Given the description of an element on the screen output the (x, y) to click on. 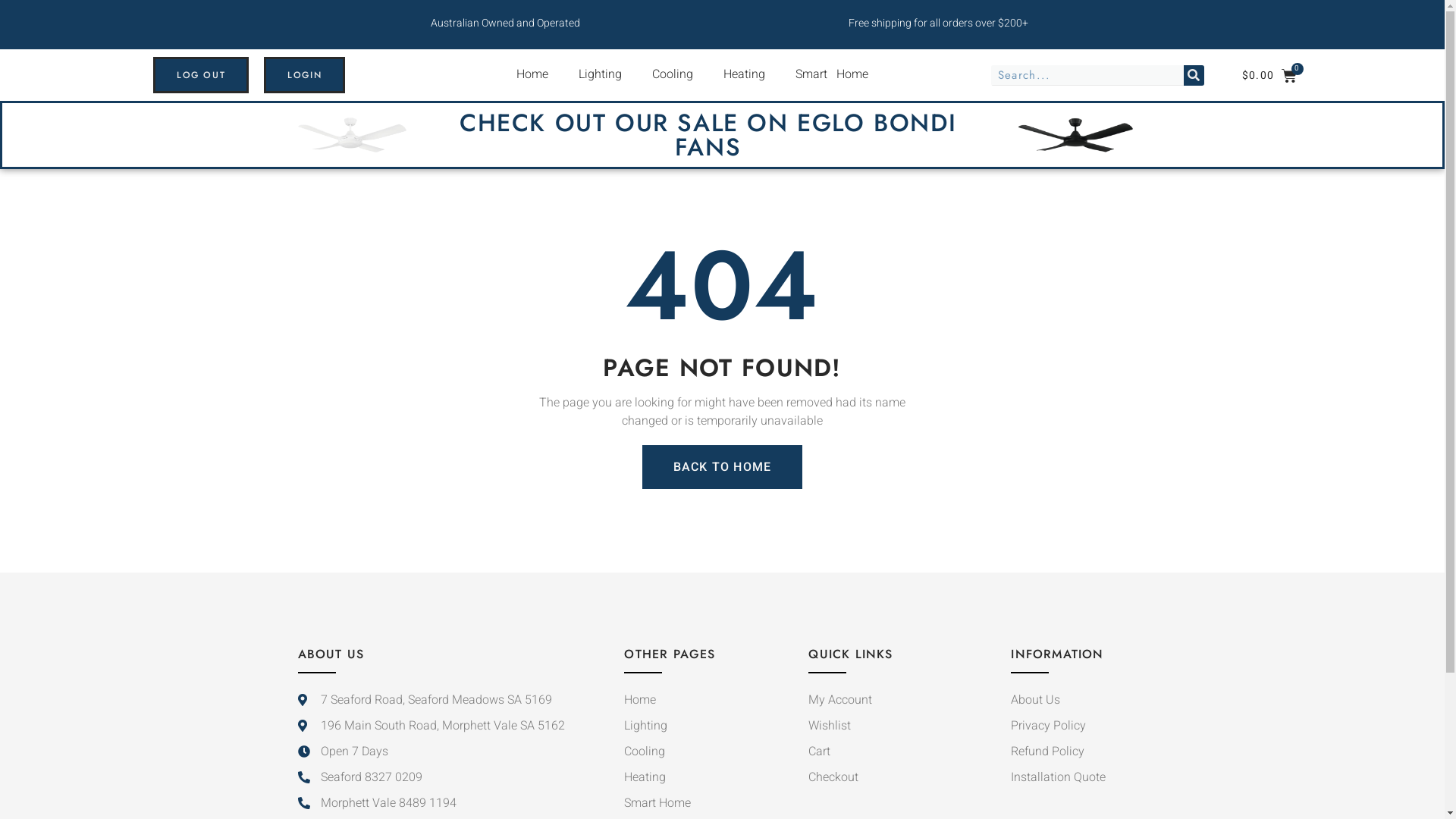
$0.00
0 Element type: text (1273, 76)
Seaford 8327 0209 Element type: text (434, 777)
Heating Element type: text (744, 73)
CHECK OUT OUR SALE ON EGLO BONDI FANS Element type: text (707, 134)
Home Element type: text (532, 73)
Privacy Policy Element type: text (1078, 725)
Lighting Element type: text (708, 725)
LOGIN Element type: text (304, 74)
Cart Element type: text (890, 751)
Smart Home Element type: text (831, 73)
Lighting Element type: text (600, 73)
About Us Element type: text (1078, 699)
My Account Element type: text (890, 699)
Refund Policy Element type: text (1078, 751)
Morphett Vale 8489 1194 Element type: text (434, 802)
Home Element type: text (708, 699)
Smart Home Element type: text (708, 802)
LOG OUT Element type: text (200, 74)
Checkout Element type: text (890, 777)
Installation Quote Element type: text (1078, 777)
Cooling Element type: text (672, 73)
Cooling Element type: text (708, 751)
Heating Element type: text (708, 777)
BACK TO HOME Element type: text (722, 467)
Wishlist Element type: text (890, 725)
